Given the description of an element on the screen output the (x, y) to click on. 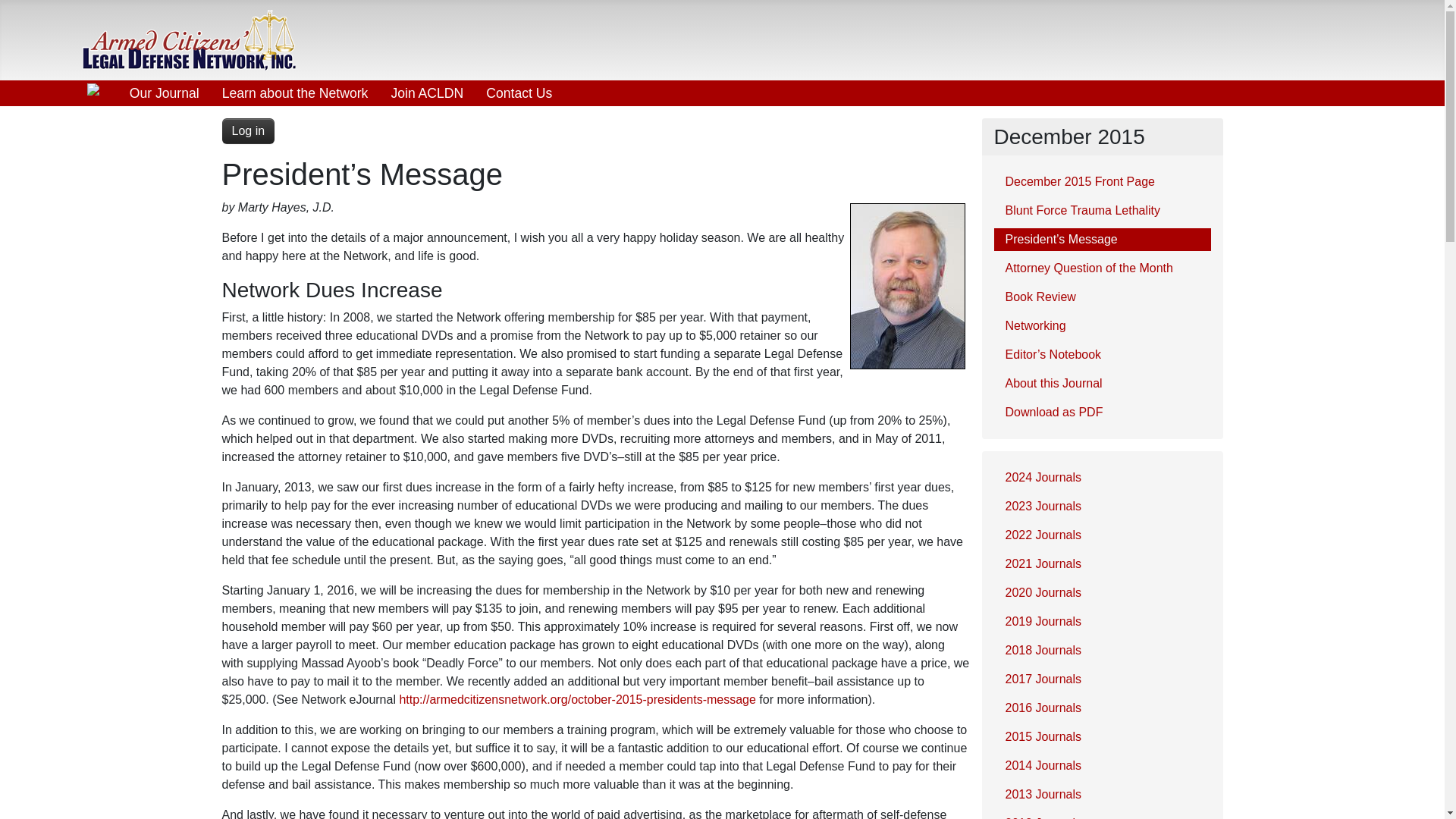
2013 Journals (1100, 793)
2015 Journals (1100, 736)
2024 Journals (1100, 477)
2023 Journals (1100, 506)
Blunt Force Trauma Lethality (1100, 210)
2017 Journals (1100, 679)
Our Journal (164, 93)
Book Review (1100, 296)
2018 Journals (1100, 650)
2019 Journals (1100, 621)
Log in (248, 130)
Attorney Question of the Month (1100, 268)
2021 Journals (1100, 563)
2016 Journals (1100, 707)
